Given the description of an element on the screen output the (x, y) to click on. 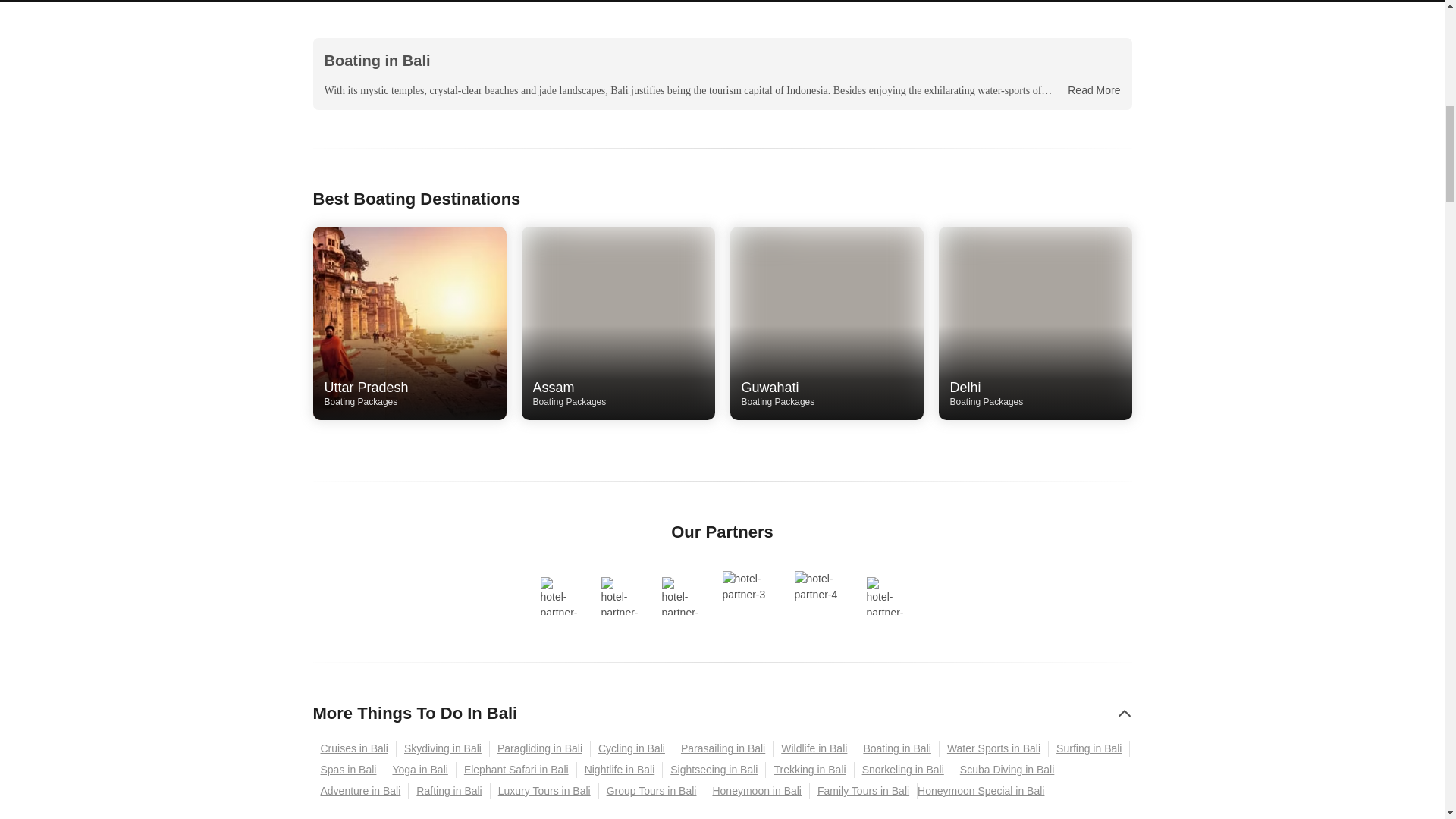
Surfing in Bali (1088, 748)
Wildlife in Bali (814, 748)
Luxury Tours in Bali (544, 790)
Sightseeing in Bali (713, 770)
Rafting in Bali (449, 790)
Nightlife in Bali (619, 770)
Family Tours in Bali (826, 394)
Skydiving in Bali (863, 790)
Water Sports in Bali (442, 748)
